Given the description of an element on the screen output the (x, y) to click on. 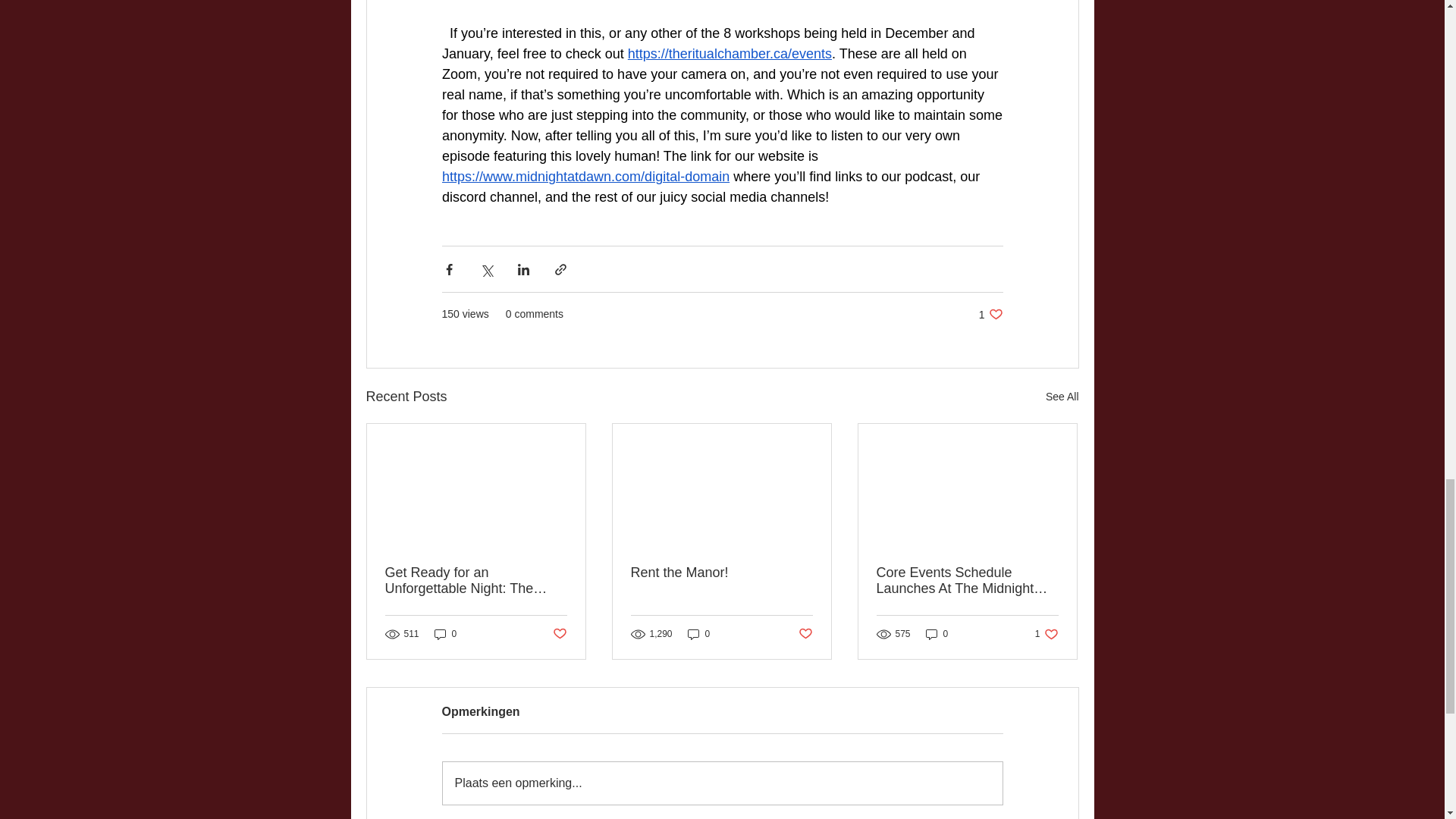
0 (445, 634)
Post not marked as liked (804, 634)
See All (1061, 396)
Post not marked as liked (558, 634)
0 (937, 634)
Core Events Schedule Launches At The Midnight Manor (1046, 634)
Plaats een opmerking... (967, 581)
Rent the Manor! (990, 314)
0 (722, 783)
